Given the description of an element on the screen output the (x, y) to click on. 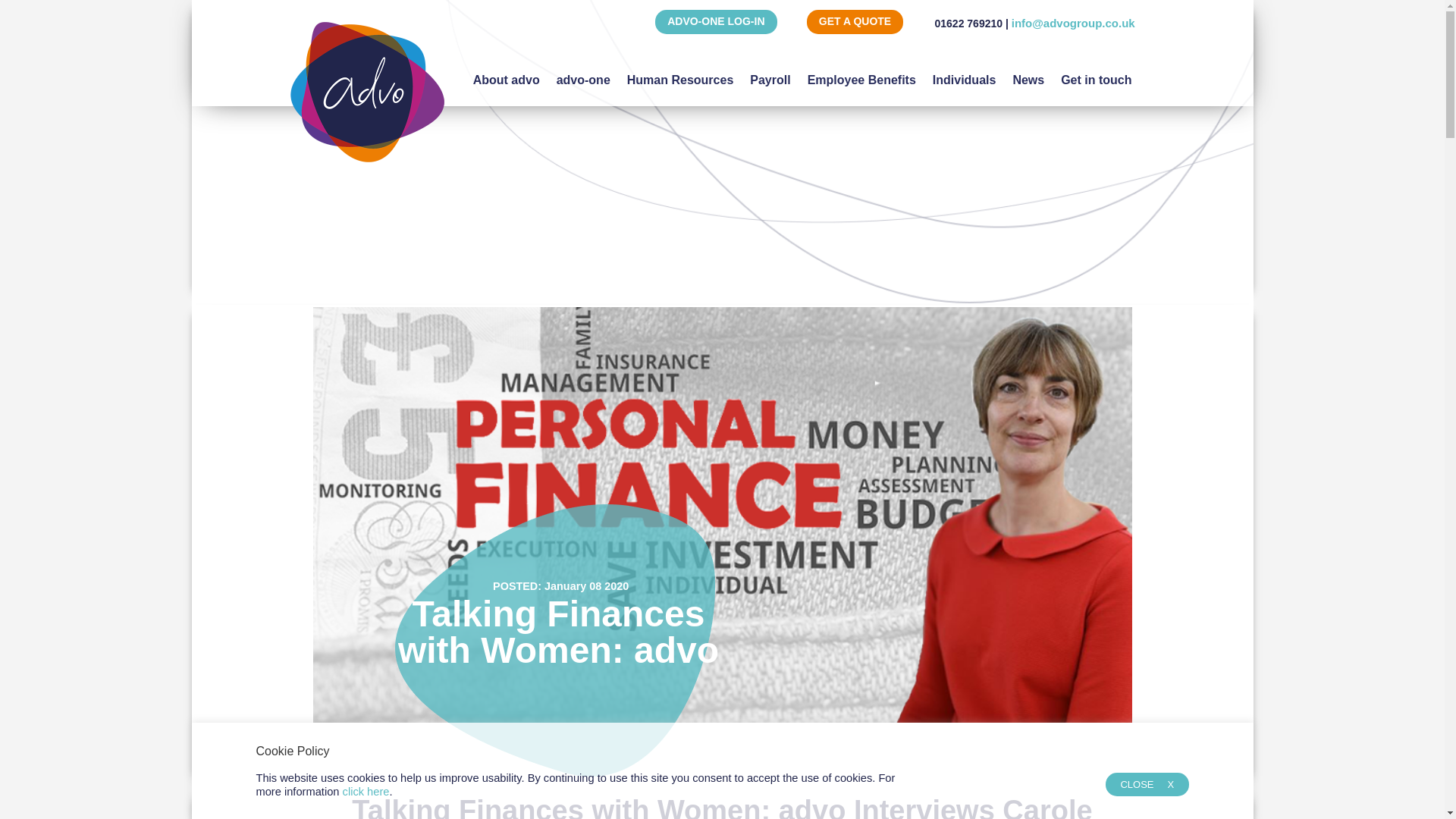
Get in touch (1096, 72)
Human Resources (680, 72)
overlay-shape (554, 640)
About advo (506, 72)
GET A QUOTE (854, 21)
ADVO-ONE LOG-IN (715, 21)
Employee Benefits (861, 72)
